Given the description of an element on the screen output the (x, y) to click on. 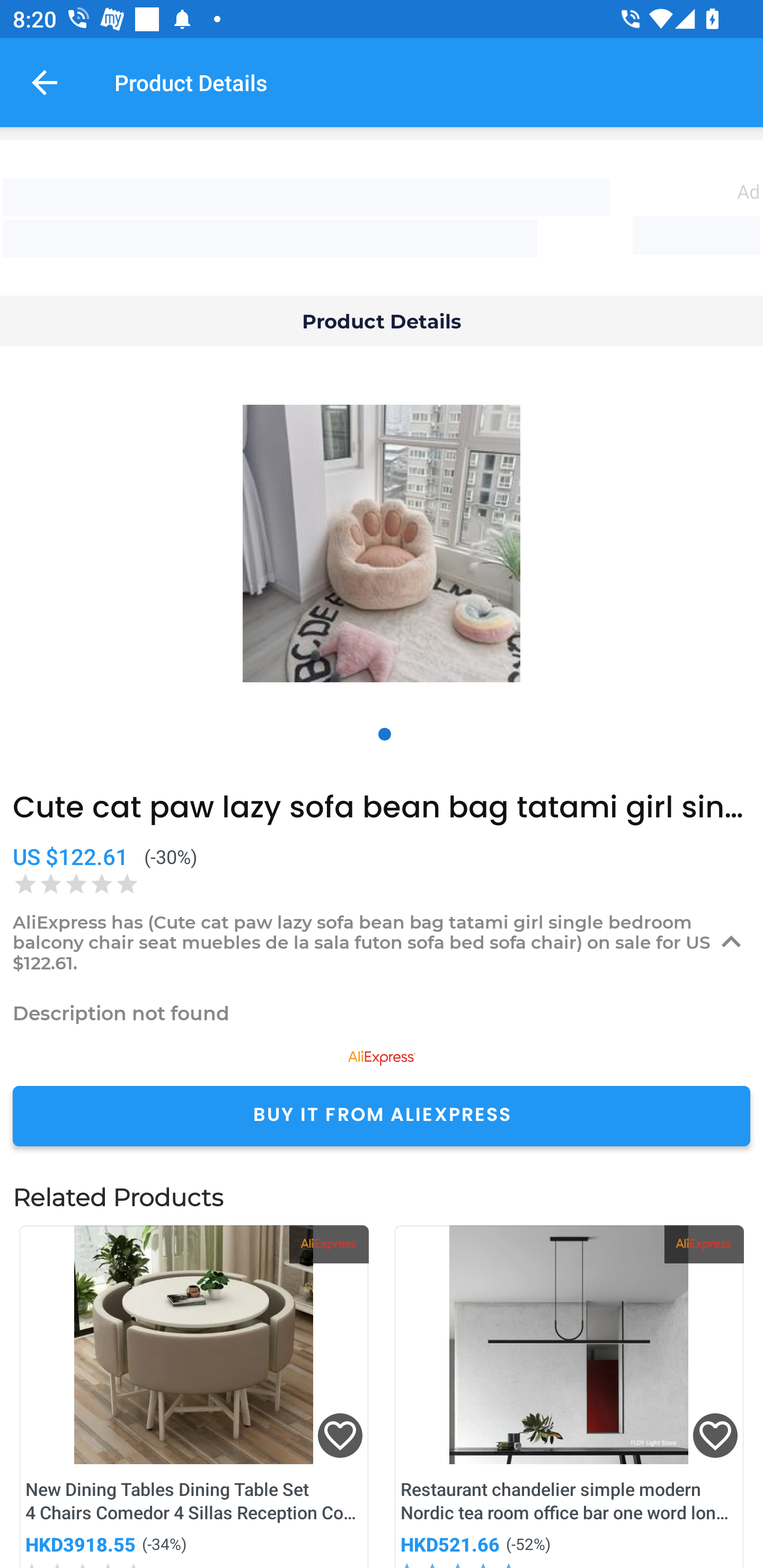
Navigate up (44, 82)
Description not found (381, 1012)
BUY IT FROM ALIEXPRESS (381, 1115)
